Given the description of an element on the screen output the (x, y) to click on. 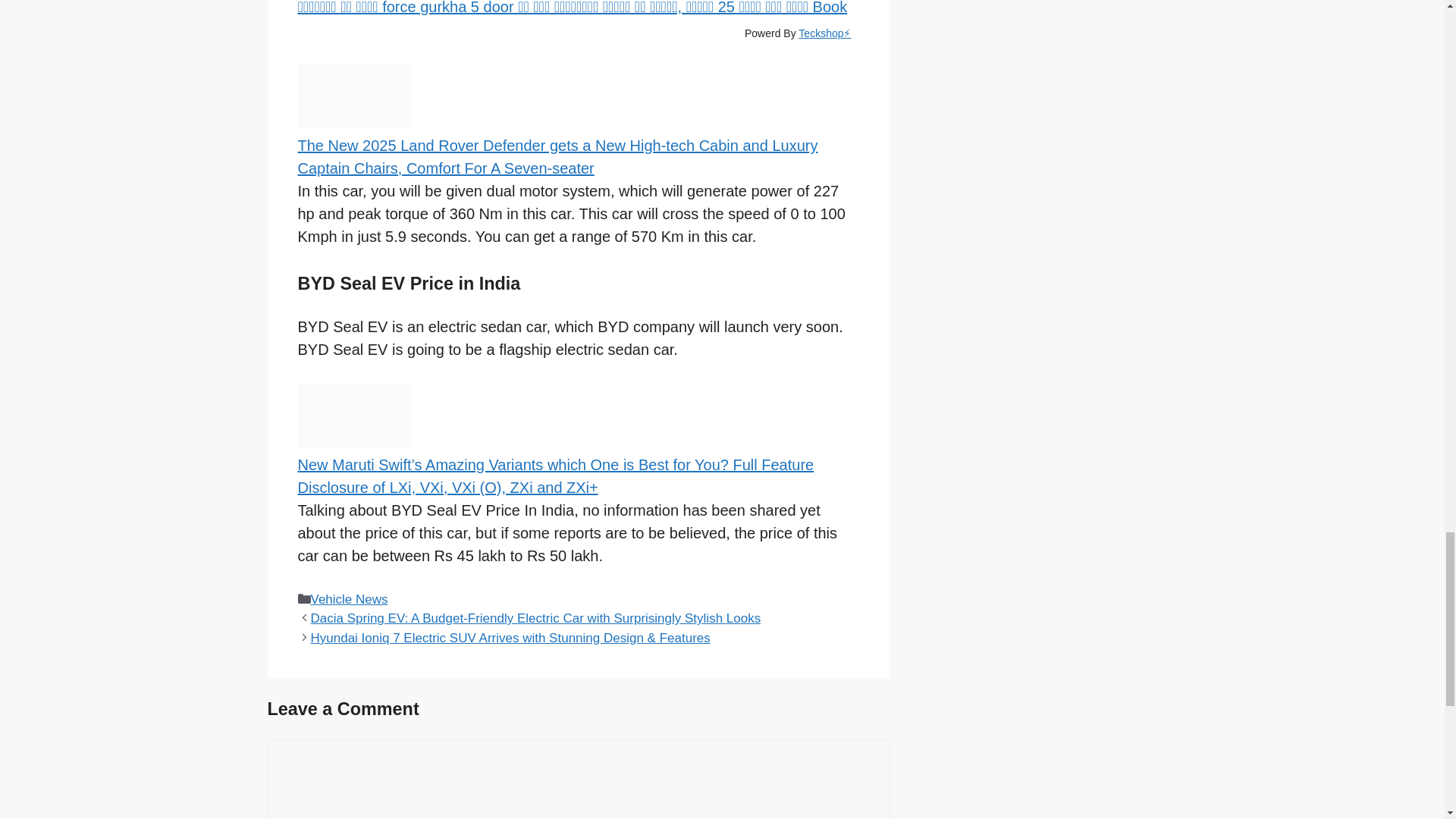
Vehicle News (349, 599)
